Given the description of an element on the screen output the (x, y) to click on. 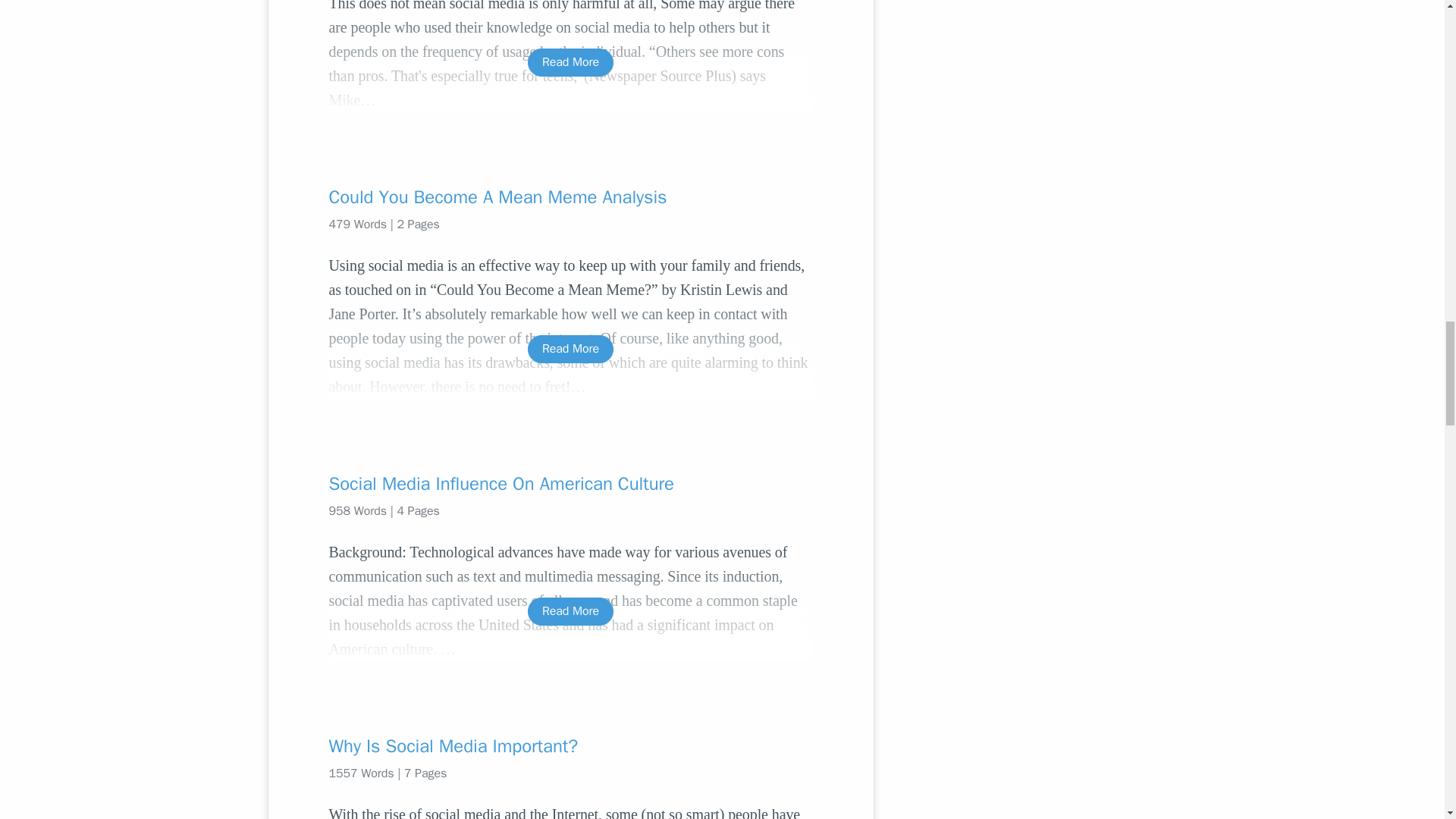
Read More (569, 348)
Social Media Influence On American Culture (570, 483)
Read More (569, 62)
Could You Become A Mean Meme Analysis (570, 197)
Why Is Social Media Important? (570, 745)
Read More (569, 611)
